Given the description of an element on the screen output the (x, y) to click on. 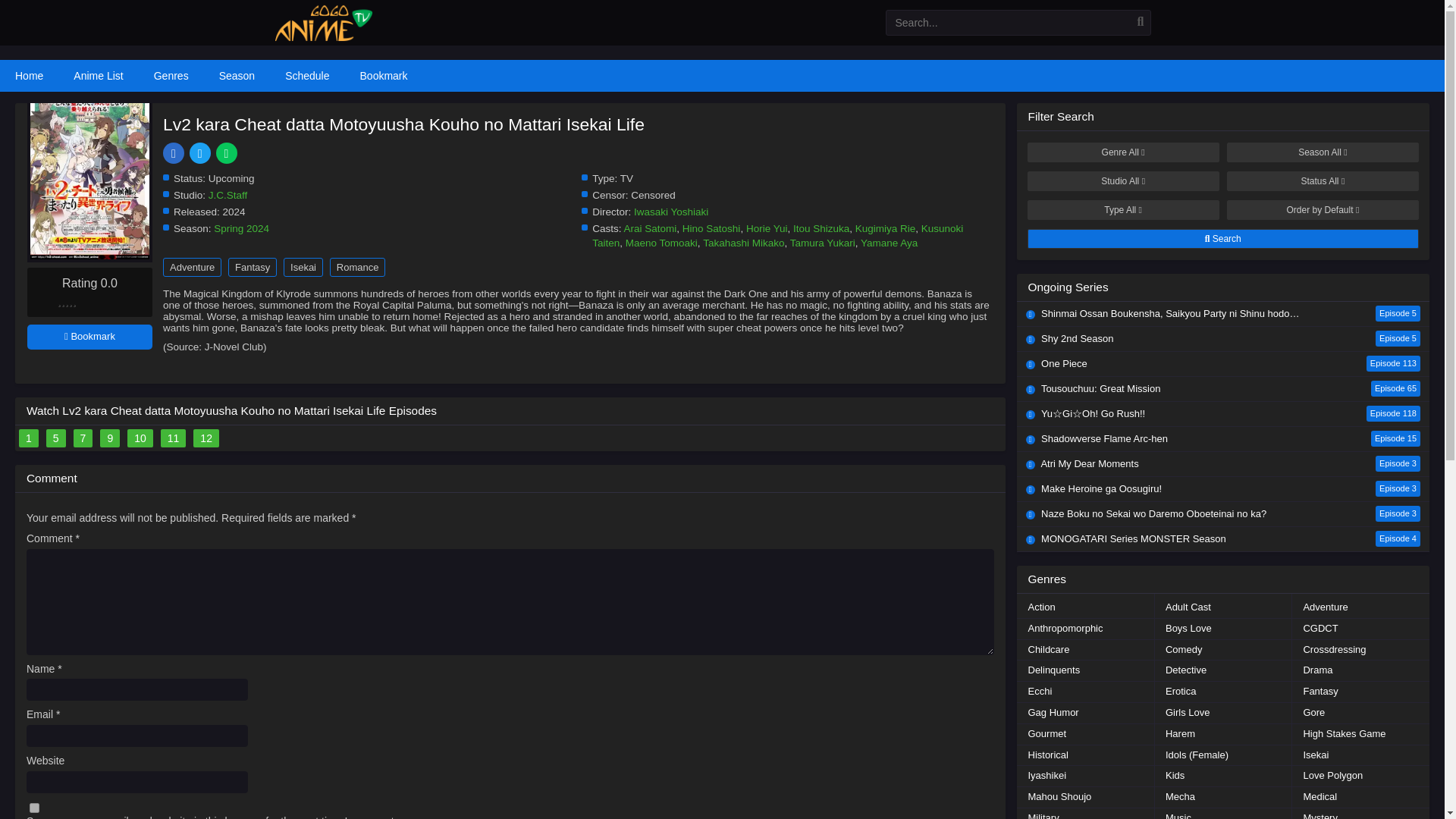
Itou Shizuka (820, 228)
Home (28, 75)
View all series in Action (1040, 607)
Kusunoki Taiten (777, 235)
Tousouchuu: Great Mission Episode 65 English Subbed (1222, 388)
Fantasy (252, 266)
View all series in Adventure (1324, 607)
Takahashi Mikako (743, 242)
12 (206, 438)
11 (173, 438)
Schedule (307, 75)
Tamura Yukari (823, 242)
One Piece Episode 1113 English Subbed (1222, 363)
View all series in Anthropomorphic (1064, 629)
